Given the description of an element on the screen output the (x, y) to click on. 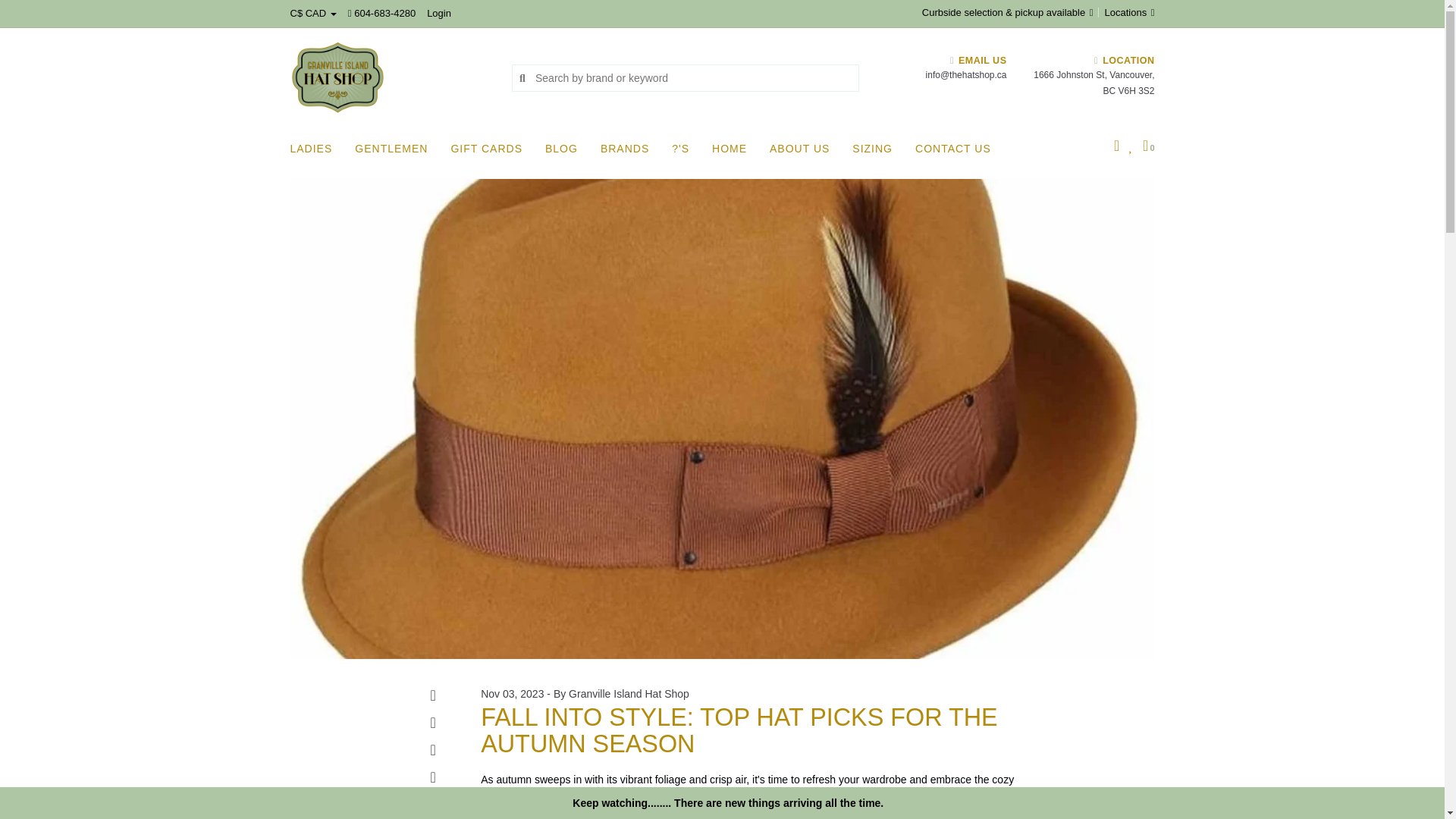
SIZING (875, 152)
Locations (1125, 12)
BRANDS (627, 152)
GIFT CARDS (489, 152)
Gentlemen (395, 152)
Ladies (314, 152)
BLOG (564, 152)
HOME (732, 152)
Login (438, 12)
Granville Island Hat Shop (389, 77)
